Given the description of an element on the screen output the (x, y) to click on. 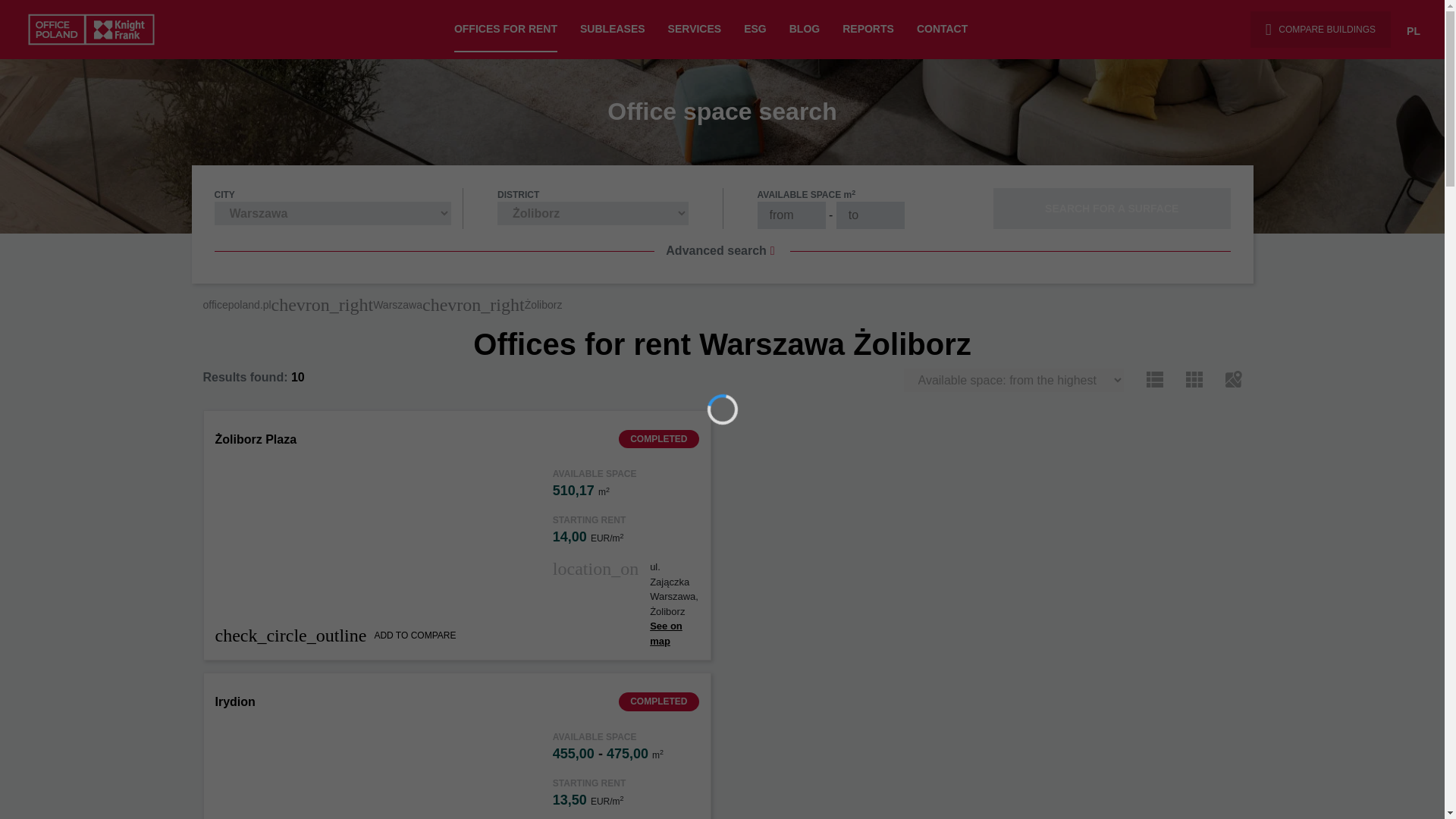
SERVICES (695, 29)
REPORTS (868, 29)
officepoland.pl (236, 304)
OfficePoland.pl (236, 304)
CONTACT (942, 29)
Subleases (612, 29)
Services (695, 29)
SUBLEASES (612, 29)
Contact (942, 29)
COMPARE BUILDINGS (1320, 29)
OfficePoland.pl (96, 29)
Reports (868, 29)
Warszawa (397, 304)
Search for a surface (1111, 208)
Irydion (235, 701)
